Given the description of an element on the screen output the (x, y) to click on. 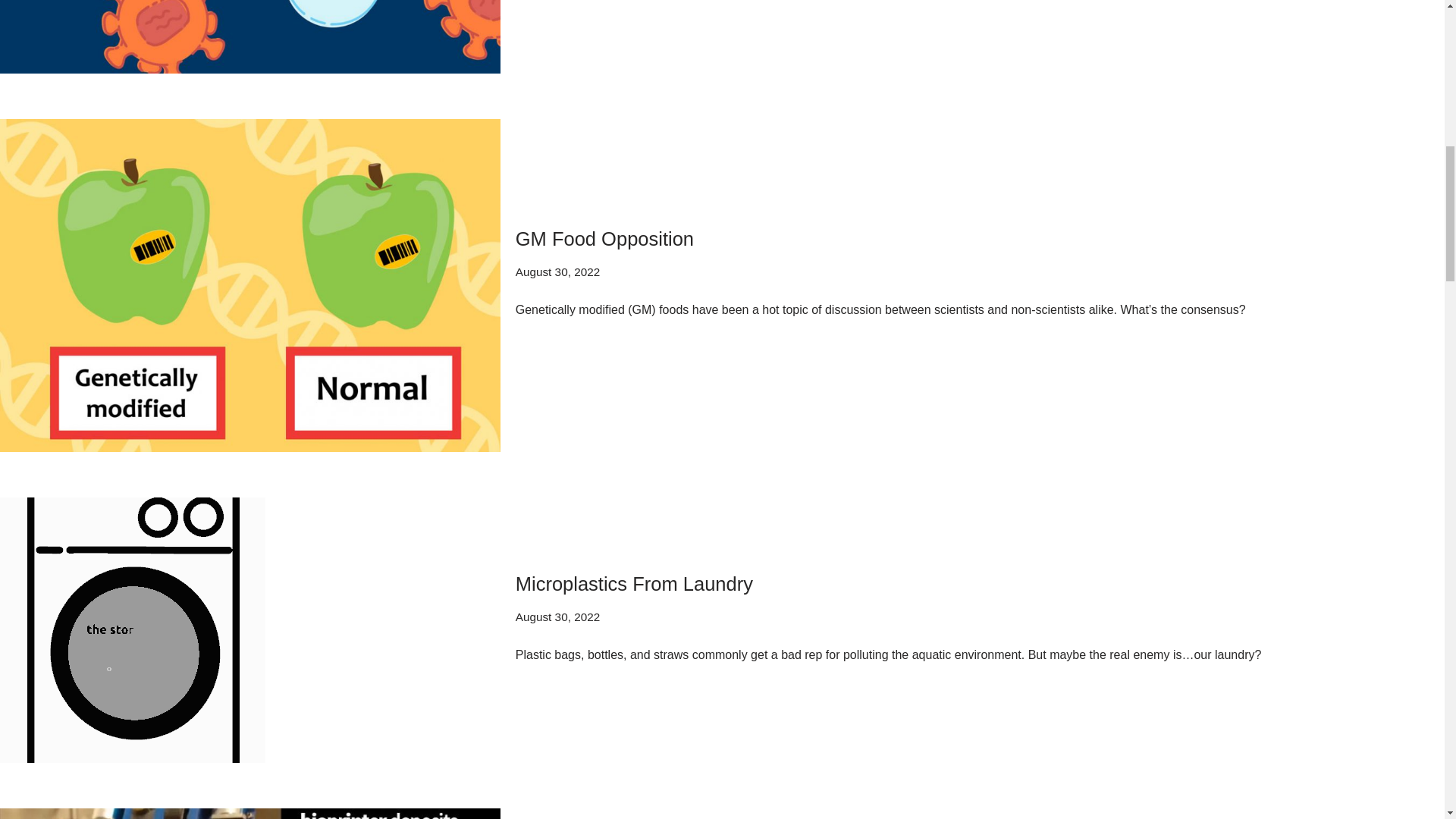
Microplastics From Laundry (633, 583)
3D Skin Printing (250, 813)
GM Food Opposition (604, 238)
Microplastics From Laundry (250, 629)
